Given the description of an element on the screen output the (x, y) to click on. 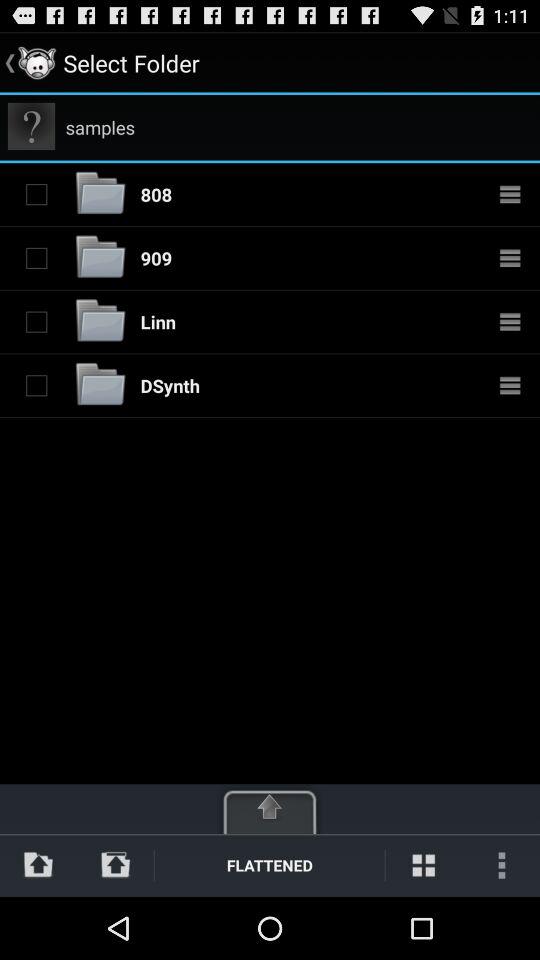
select the app next to the samples item (31, 125)
